Given the description of an element on the screen output the (x, y) to click on. 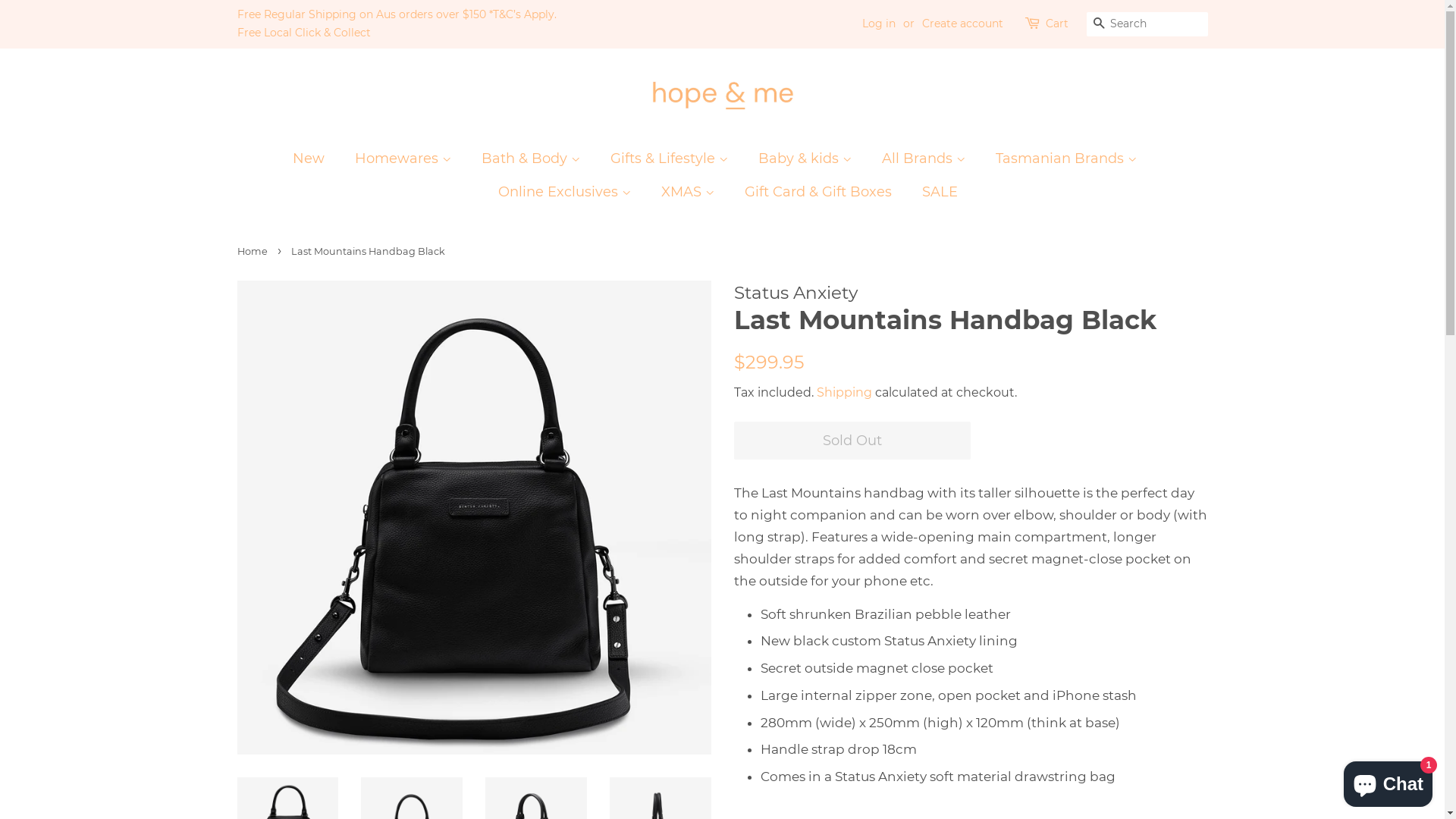
Cart Element type: text (1055, 24)
New Element type: text (315, 158)
Bath & Body Element type: text (532, 158)
Home Element type: text (253, 251)
Shipping Element type: text (843, 392)
Online Exclusives Element type: text (566, 192)
Baby & kids Element type: text (806, 158)
Log in Element type: text (877, 23)
Tasmanian Brands Element type: text (1067, 158)
Homewares Element type: text (404, 158)
Search Element type: text (1097, 24)
SALE Element type: text (933, 192)
Create account Element type: text (962, 23)
Shopify online store chat Element type: hover (1388, 780)
Gift Card & Gift Boxes Element type: text (819, 192)
Sold Out Element type: text (852, 440)
Gifts & Lifestyle Element type: text (671, 158)
XMAS Element type: text (689, 192)
All Brands Element type: text (925, 158)
